Given the description of an element on the screen output the (x, y) to click on. 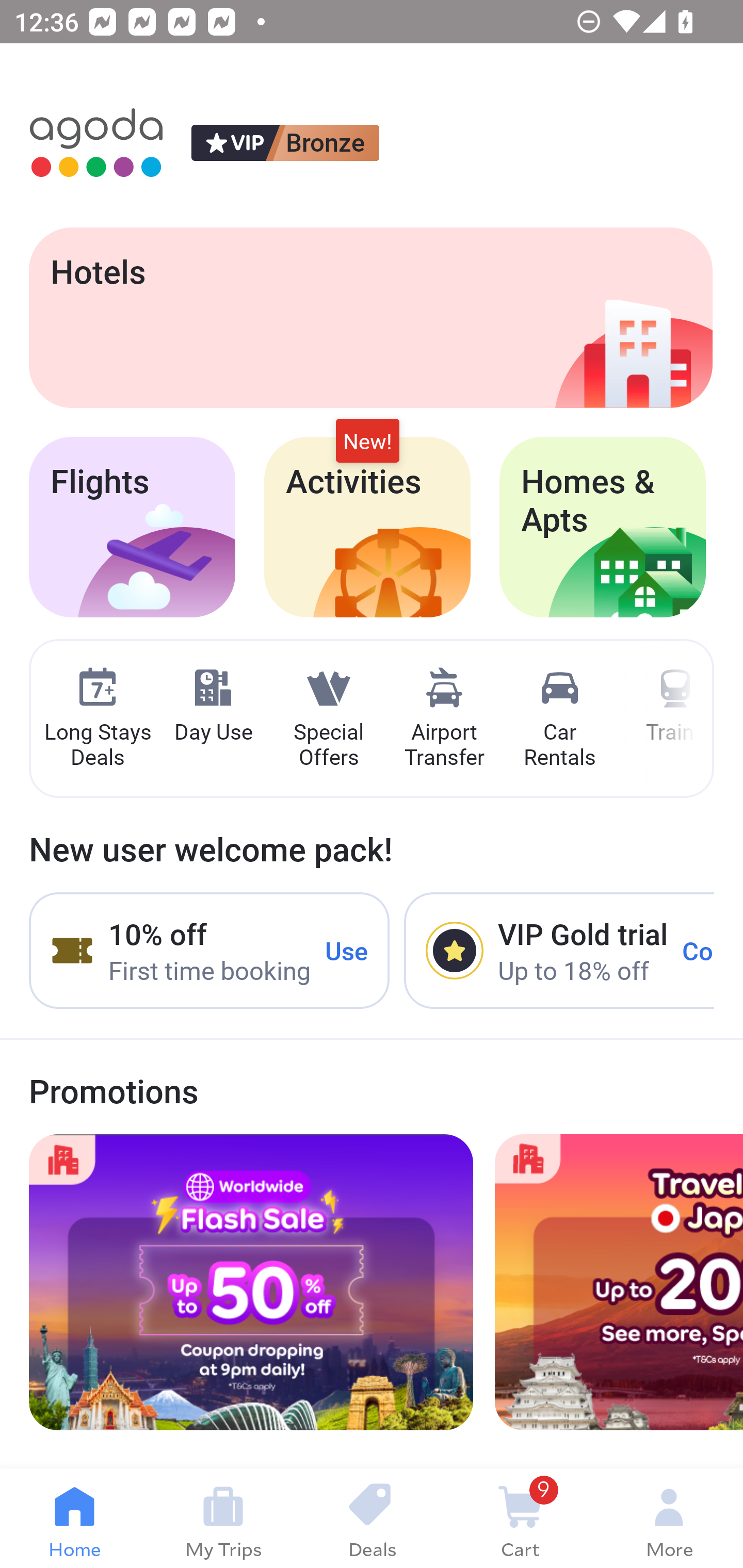
Hotels (370, 317)
New! (367, 441)
Flights (131, 527)
Activities (367, 527)
Homes & Apts (602, 527)
Day Use (213, 706)
Long Stays Deals (97, 718)
Special Offers (328, 718)
Airport Transfer (444, 718)
Car Rentals (559, 718)
Use (346, 950)
Home (74, 1518)
My Trips (222, 1518)
Deals (371, 1518)
9 Cart (519, 1518)
More (668, 1518)
